Given the description of an element on the screen output the (x, y) to click on. 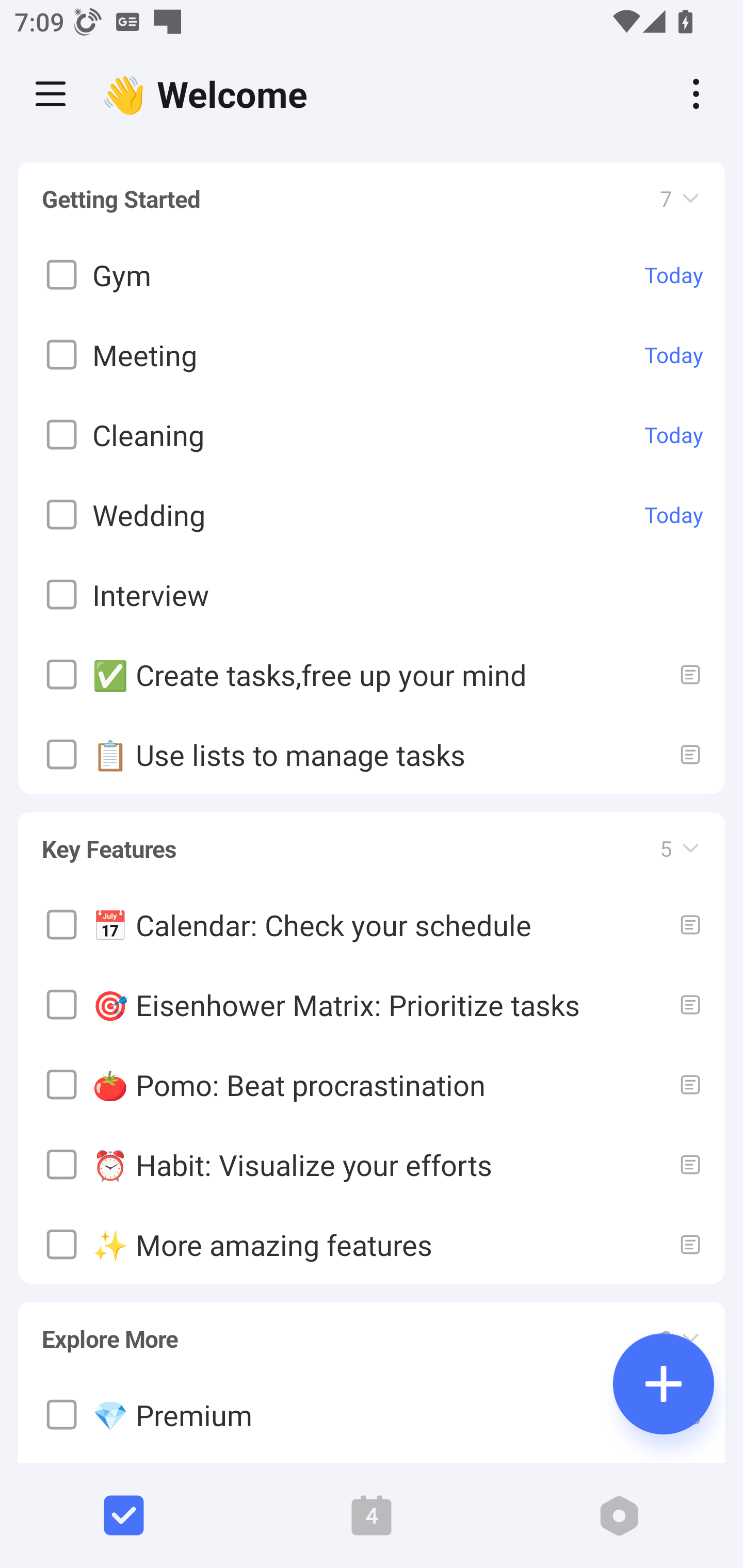
👋 Welcome (209, 93)
Getting Started 7 (371, 199)
Gym Today (371, 275)
Today (673, 275)
Meeting Today (371, 355)
Today (673, 355)
Cleaning Today (371, 435)
Today (673, 435)
Wedding Today (371, 515)
Today (673, 514)
Interview (371, 595)
✅ Create tasks,free up your mind (371, 675)
📋 Use lists to manage tasks (371, 754)
Key Features 5 (371, 839)
📅 Calendar: Check your schedule (371, 924)
🎯 Eisenhower Matrix: Prioritize tasks (371, 1004)
🍅 Pomo: Beat procrastination (371, 1084)
⏰ Habit: Visualize your efforts (371, 1164)
✨ More amazing features (371, 1244)
Explore More 2 (371, 1329)
💎 Premium (371, 1415)
